Given the description of an element on the screen output the (x, y) to click on. 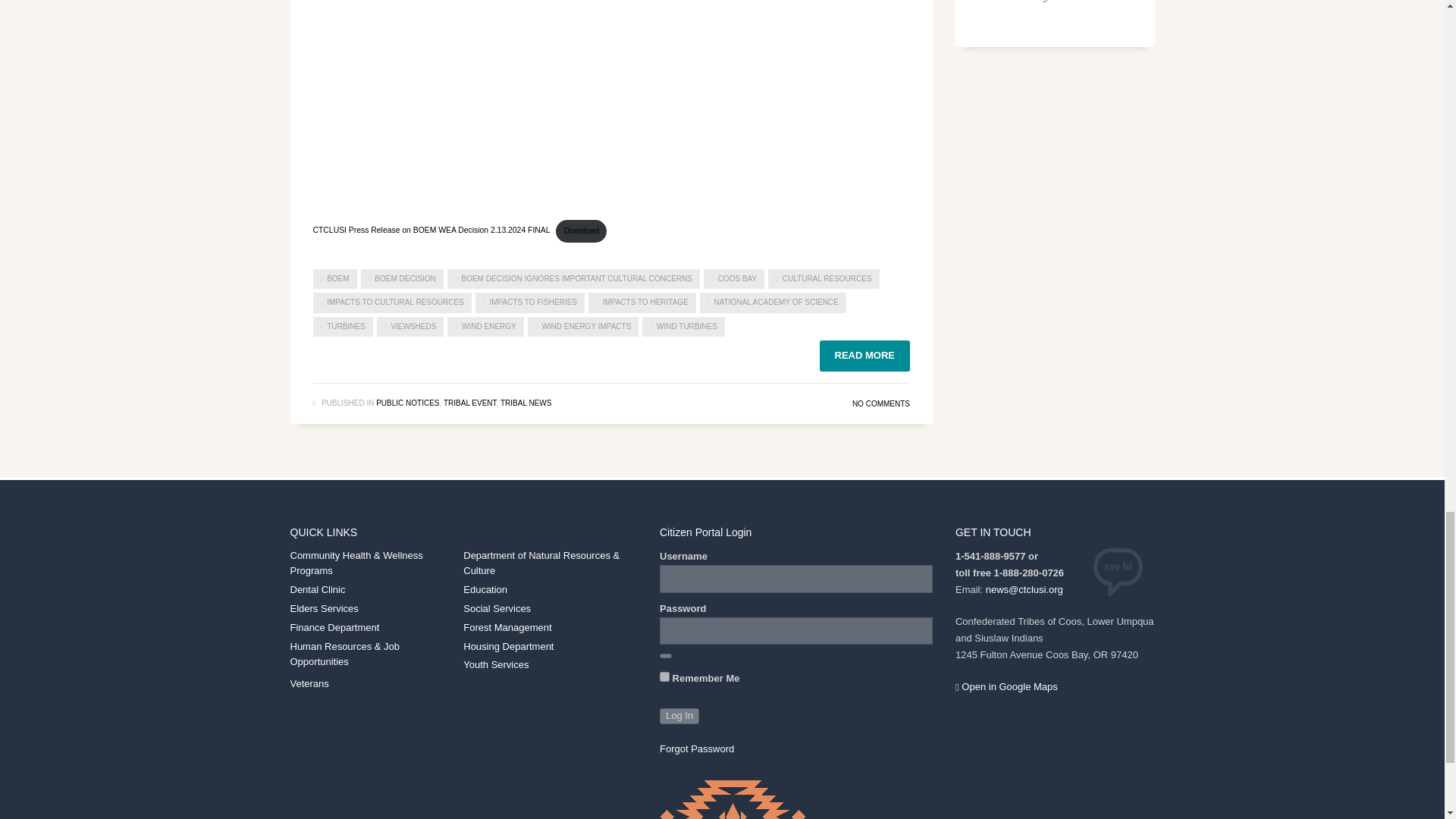
forever (664, 676)
Log In (678, 715)
